Given the description of an element on the screen output the (x, y) to click on. 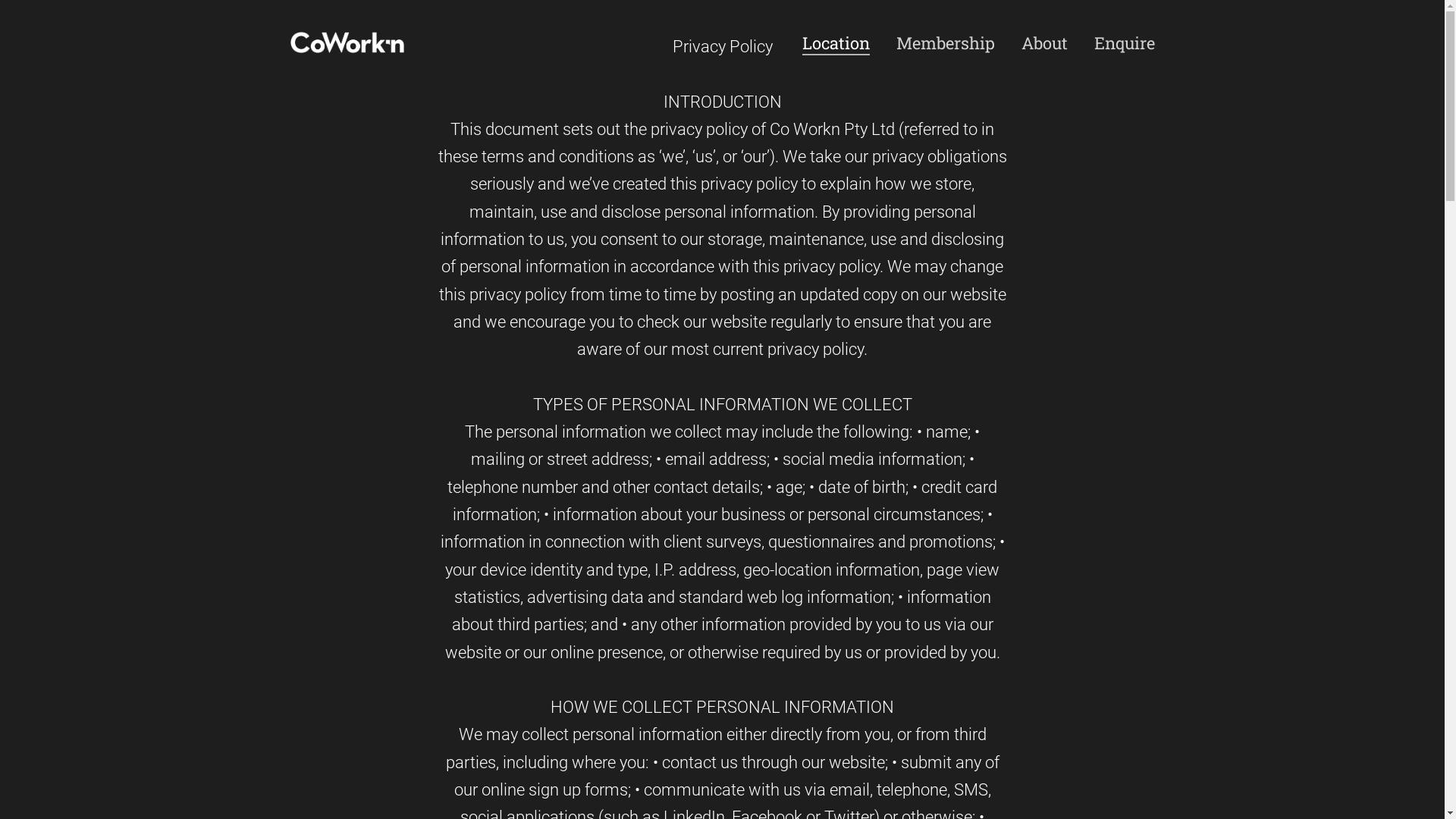
Location Element type: text (835, 43)
Membership Element type: text (945, 43)
About Element type: text (1043, 43)
Enquire Element type: text (1123, 43)
